Given the description of an element on the screen output the (x, y) to click on. 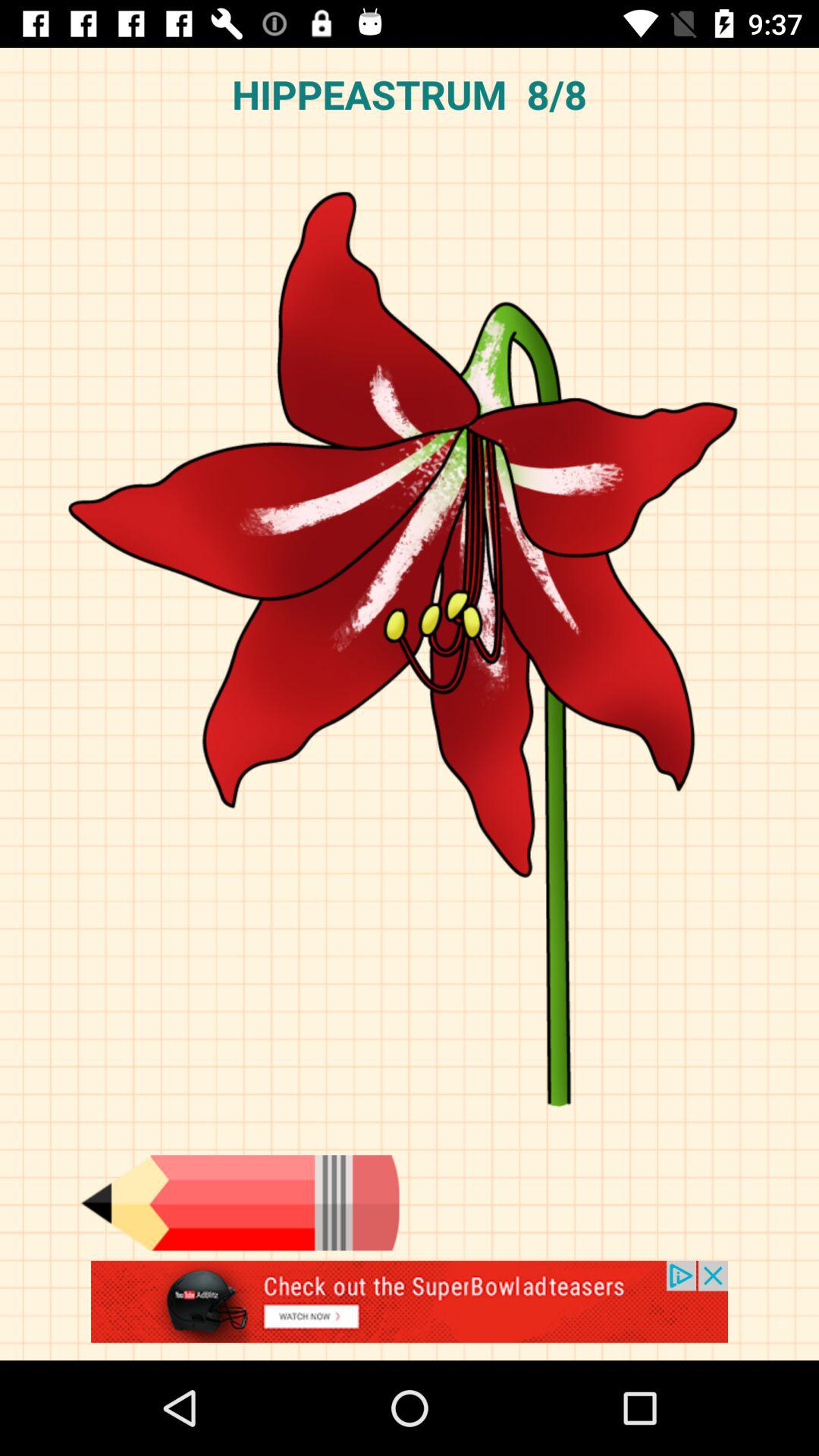
open advertisement (409, 1310)
